Given the description of an element on the screen output the (x, y) to click on. 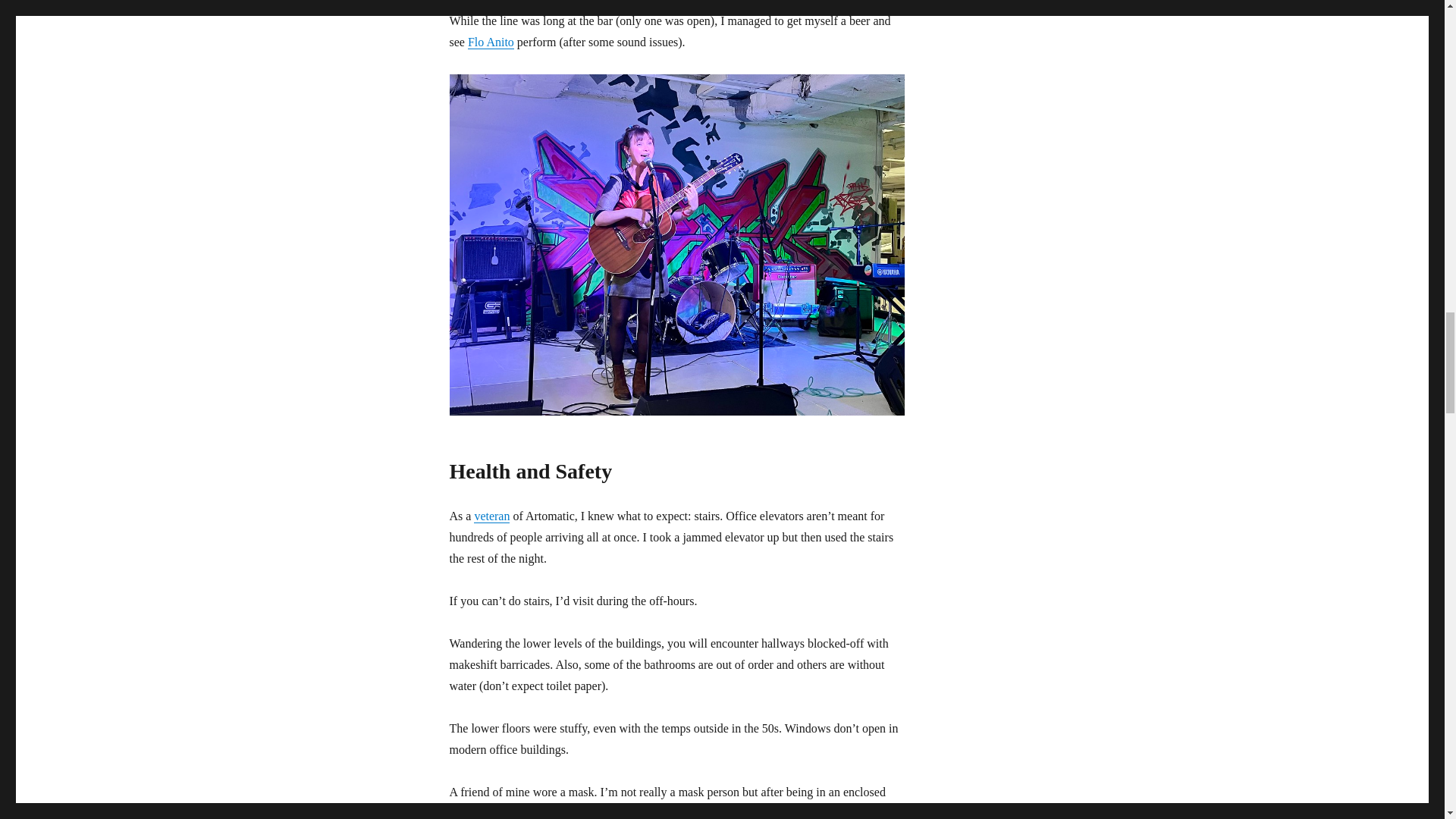
Flo Anito (490, 42)
veteran (491, 515)
